Given the description of an element on the screen output the (x, y) to click on. 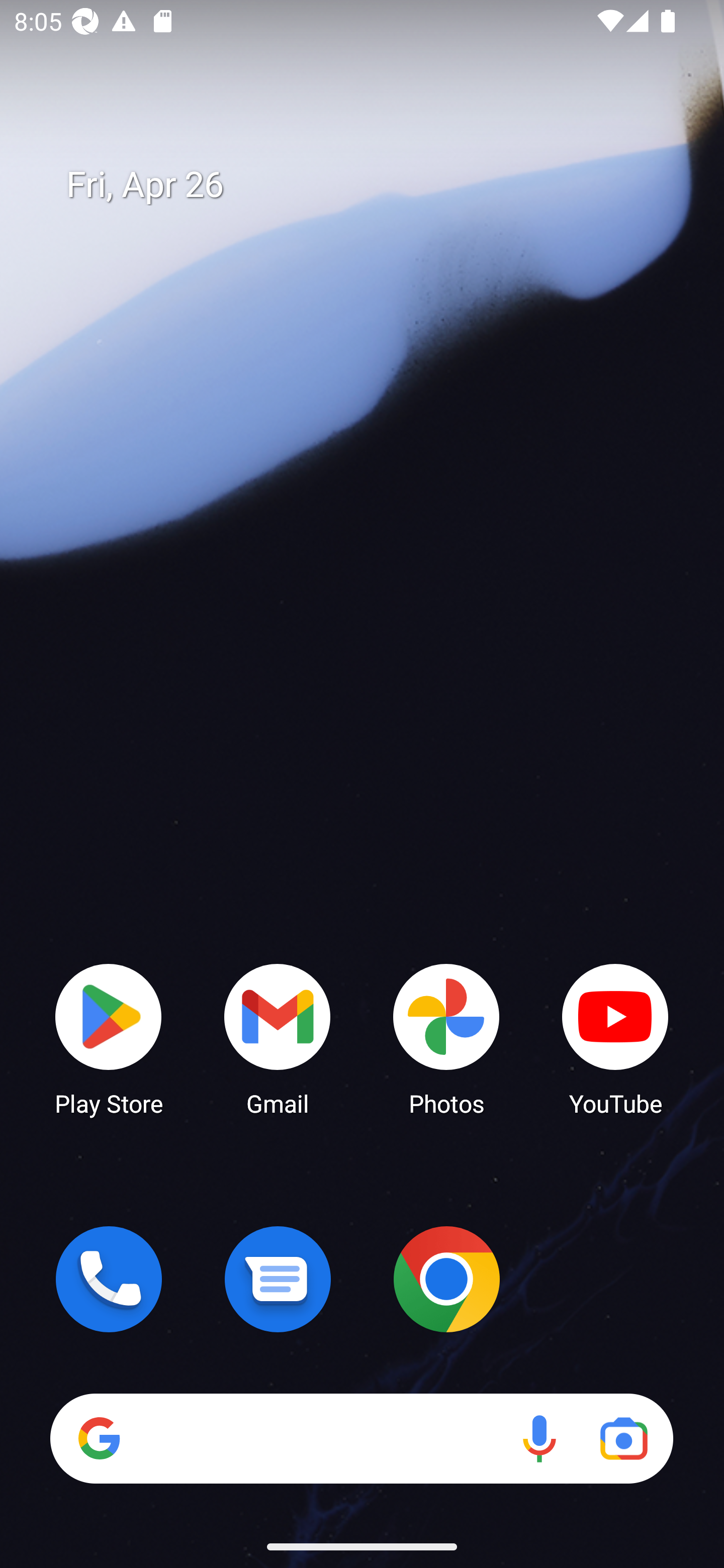
Fri, Apr 26 (375, 184)
Play Store (108, 1038)
Gmail (277, 1038)
Photos (445, 1038)
YouTube (615, 1038)
Phone (108, 1279)
Messages (277, 1279)
Chrome (446, 1279)
Search Voice search Google Lens (361, 1438)
Voice search (539, 1438)
Google Lens (623, 1438)
